Given the description of an element on the screen output the (x, y) to click on. 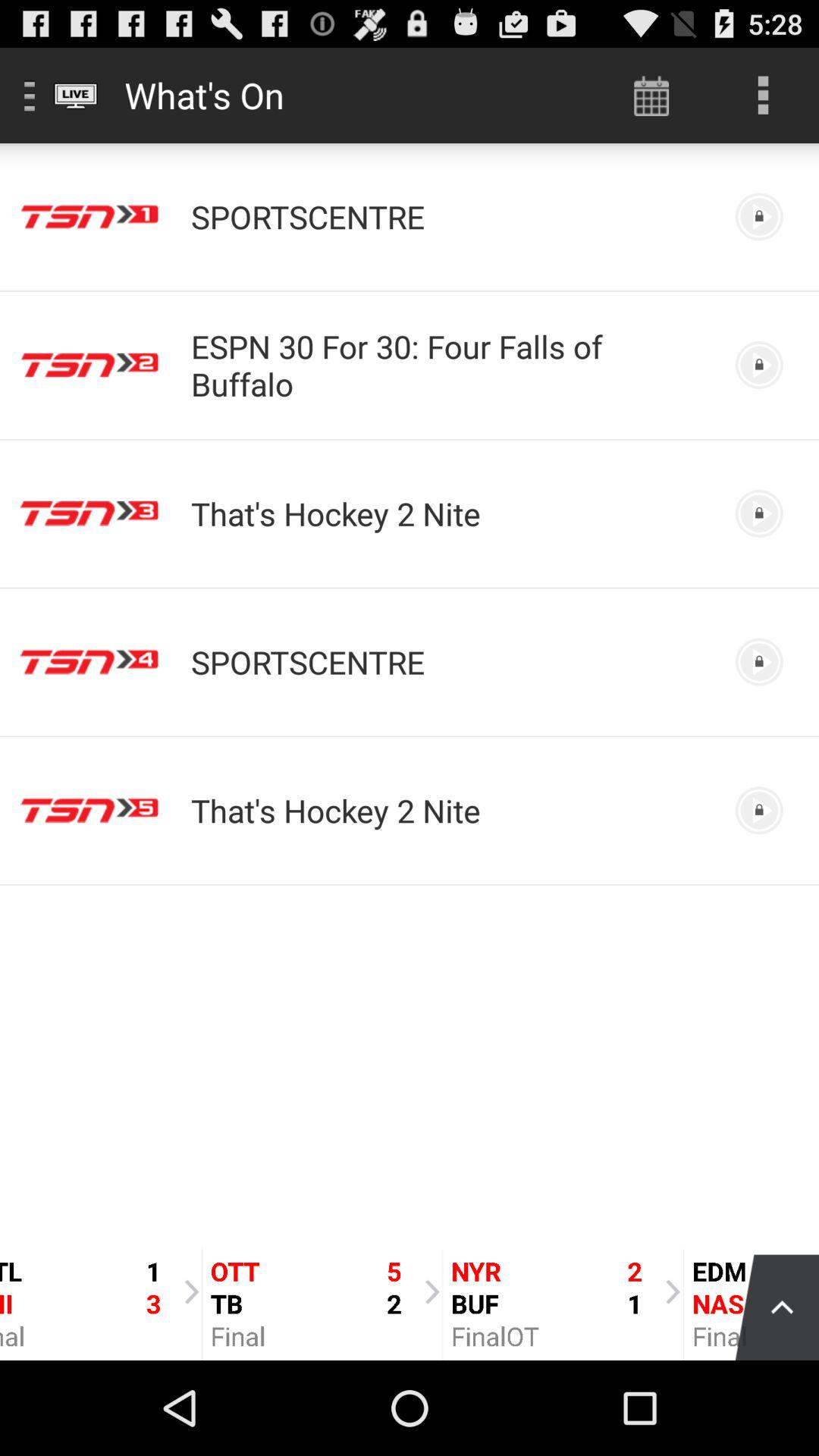
tap espn 30 for icon (450, 364)
